Given the description of an element on the screen output the (x, y) to click on. 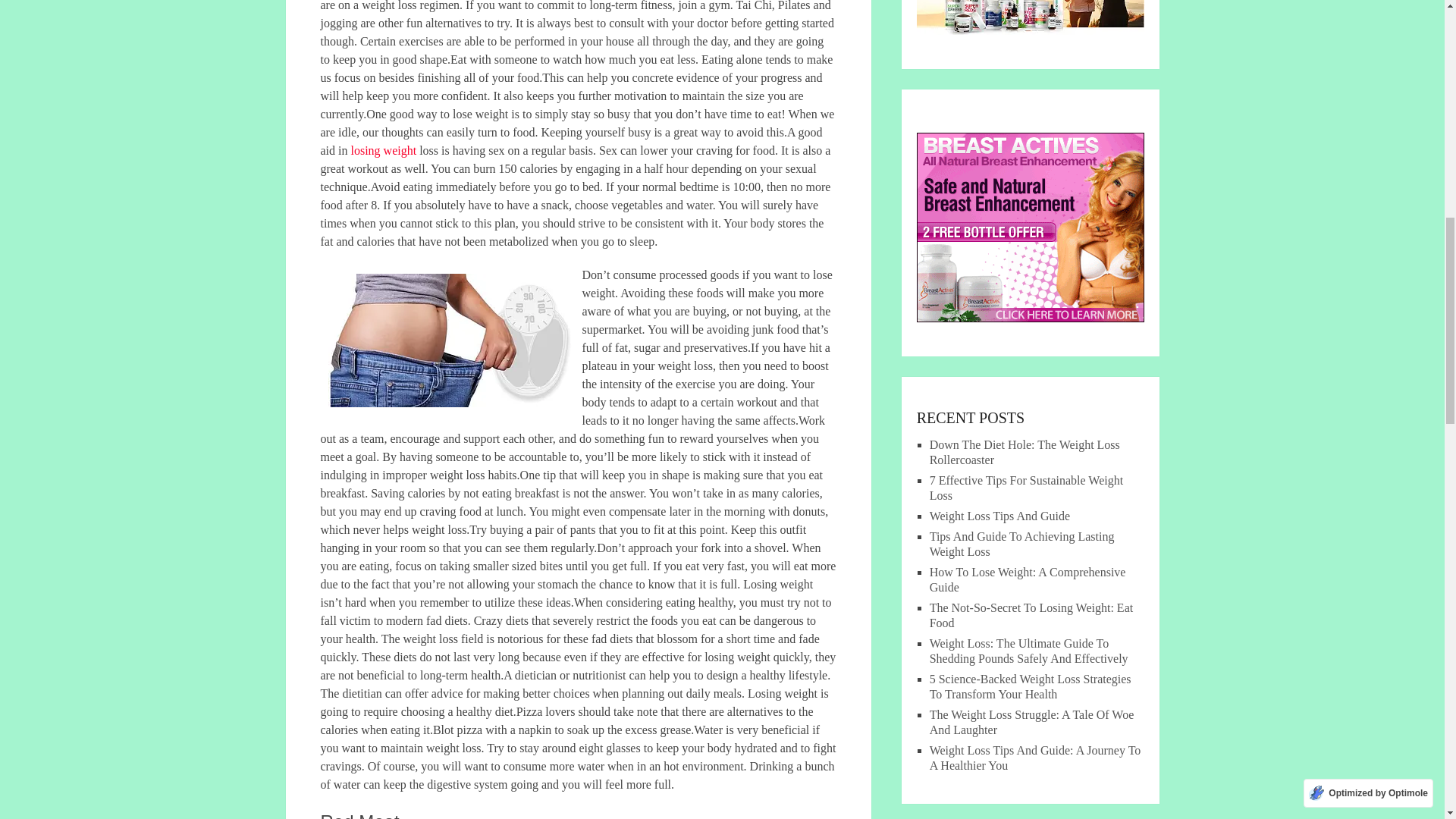
Weight Loss Tips And Guide (1000, 515)
The Weight Loss Struggle: A Tale Of Woe And Laughter (1032, 722)
Down The Diet Hole: The Weight Loss Rollercoaster (1024, 452)
The Not-So-Secret To Losing Weight: Eat Food (1032, 615)
Tips And Guide To Achieving Lasting Weight Loss (1022, 543)
7 Effective Tips For Sustainable Weight Loss (1026, 488)
losing weight (383, 150)
Lose Weight Quickly And Safely Using These Simple Tips (450, 340)
Weight Loss Tips And Guide: A Journey To A Healthier You (1035, 757)
How To Lose Weight: A Comprehensive Guide (1027, 579)
